Given the description of an element on the screen output the (x, y) to click on. 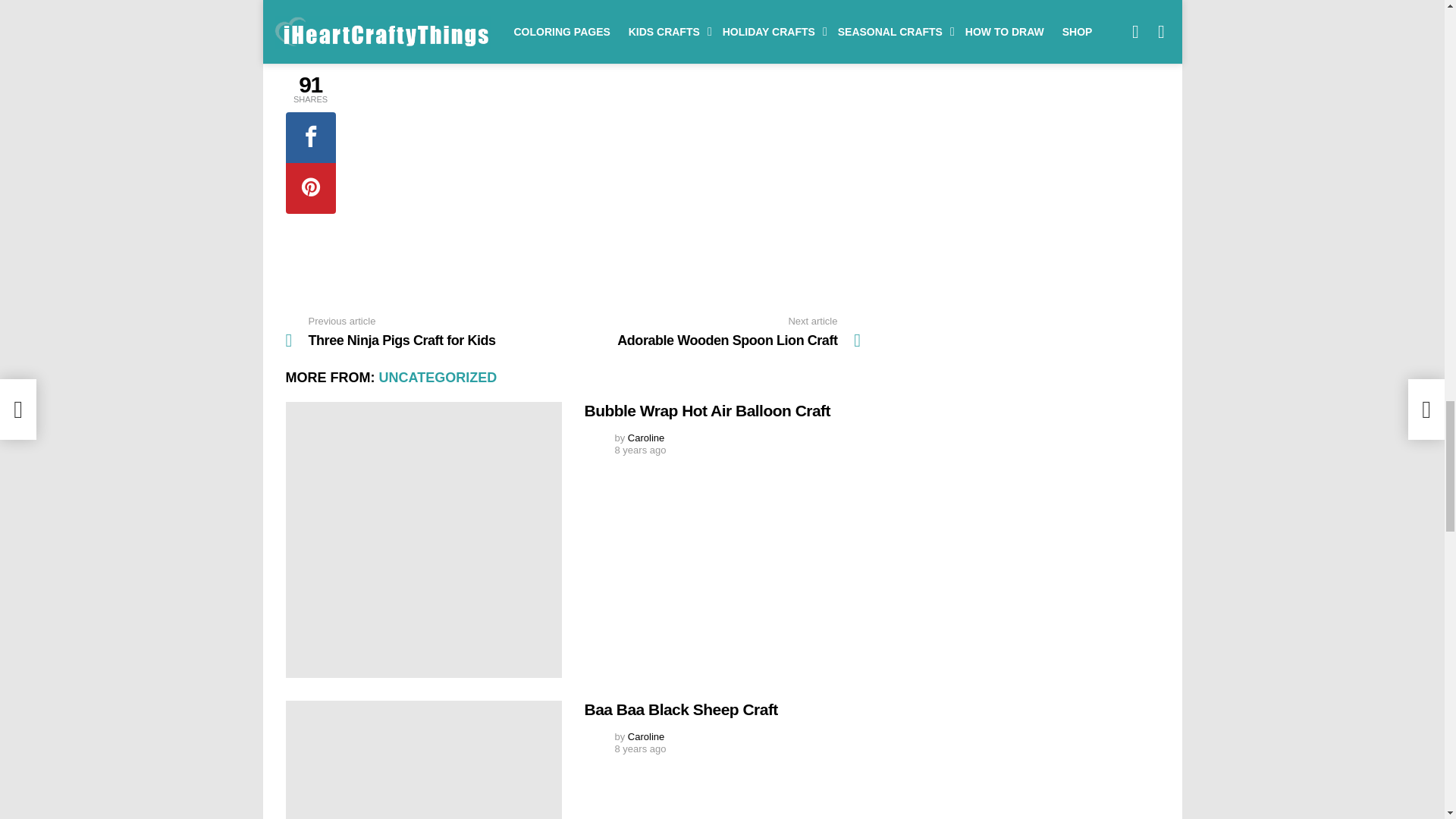
Baa Baa Black Sheep Craft (422, 760)
Posts by Caroline (645, 736)
May 17, 2016, 5:00 AM (639, 450)
February 7, 2016, 12:00 PM (639, 748)
Posts by Caroline (645, 437)
Bubble Wrap Hot Air Balloon Craft (422, 540)
